Given the description of an element on the screen output the (x, y) to click on. 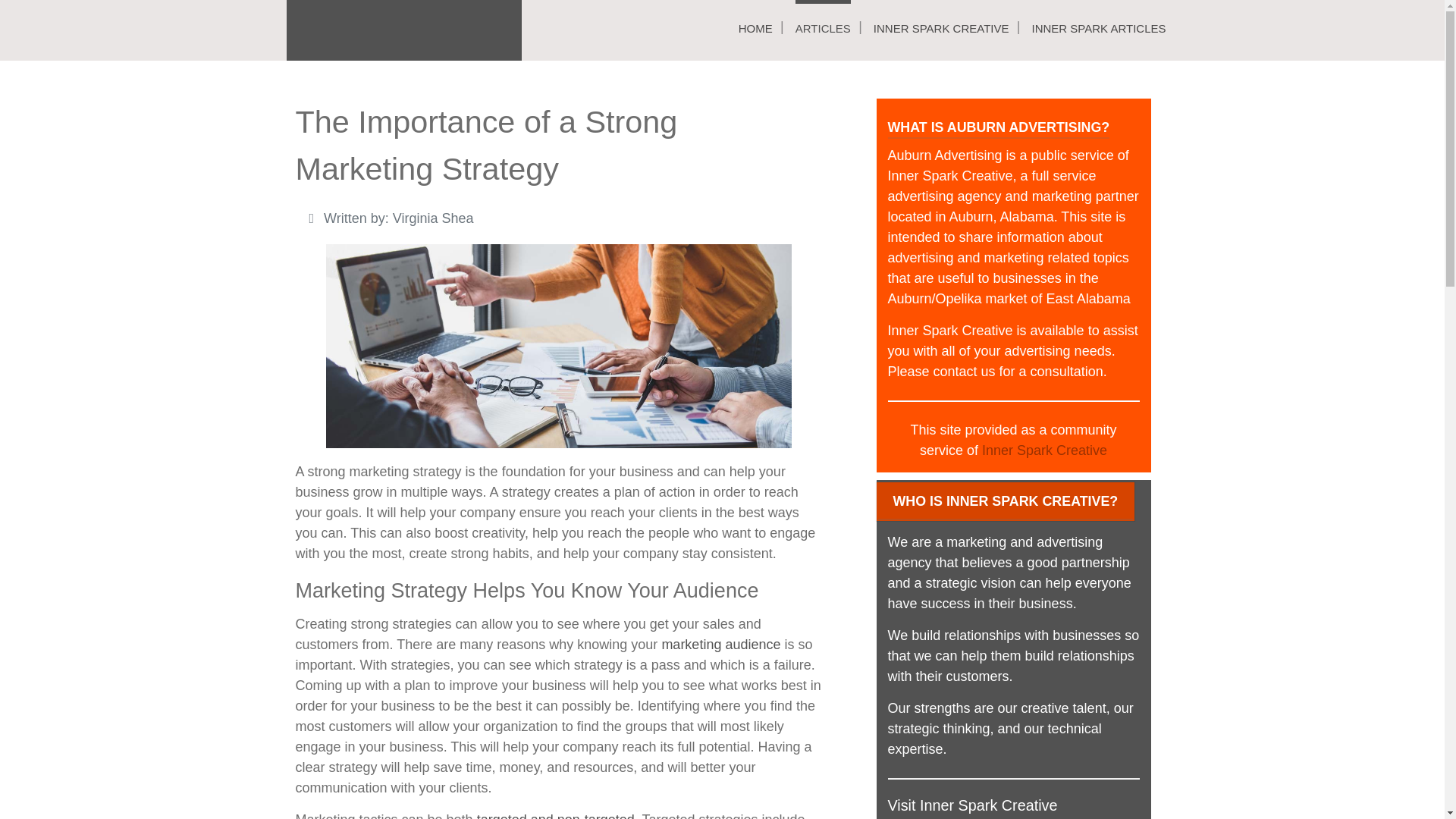
Inner Spark Creative (948, 330)
targeted and non-targeted (555, 815)
Inner Spark Creative (1043, 450)
contact us (964, 371)
marketing audience (720, 644)
INNER SPARK ARTICLES (1098, 28)
Gantry 5 (403, 30)
ARTICLES (822, 28)
INNER SPARK CREATIVE (941, 28)
